Given the description of an element on the screen output the (x, y) to click on. 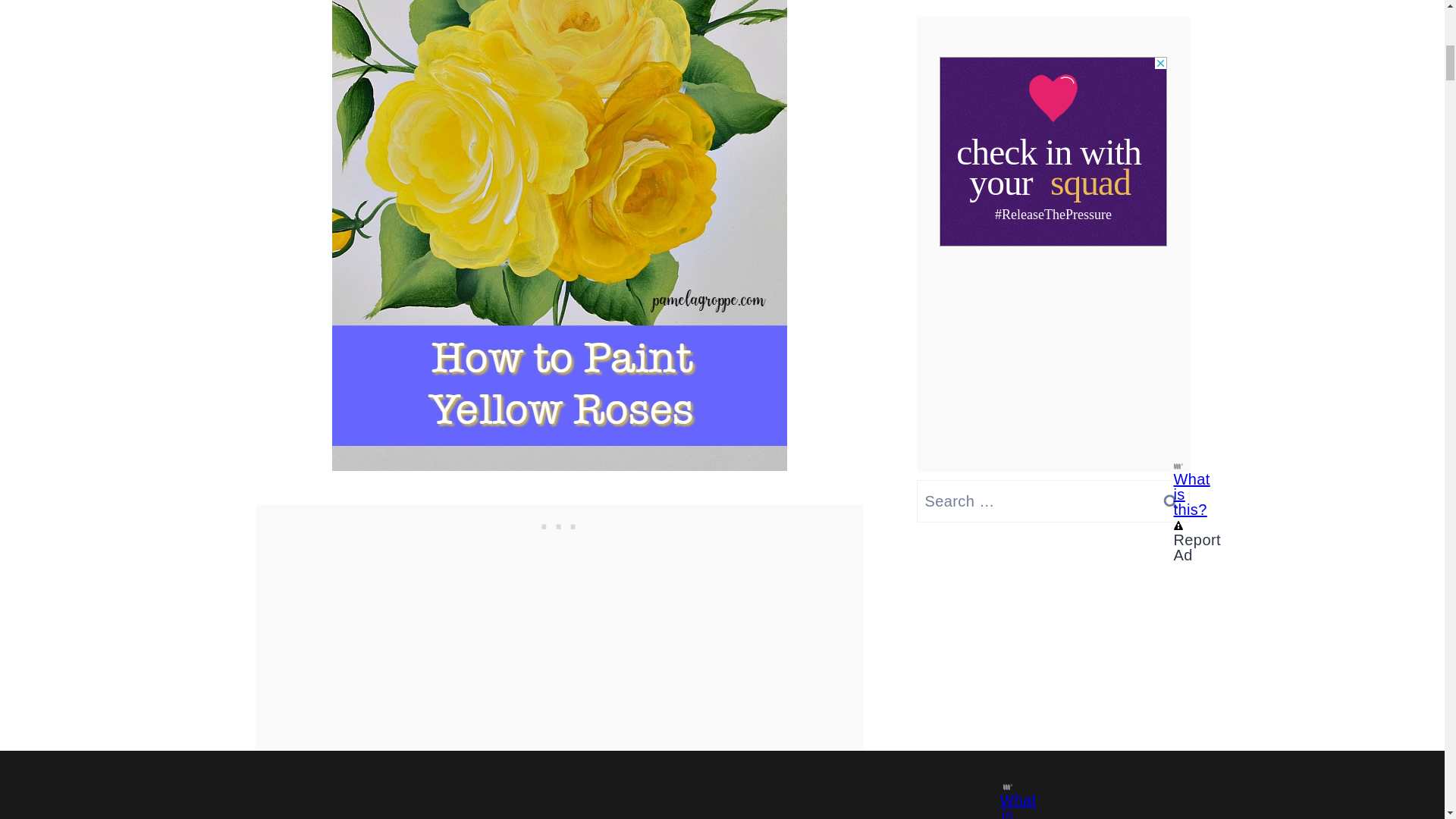
Search (1170, 500)
Search (1170, 500)
3rd party ad content (559, 523)
